Given the description of an element on the screen output the (x, y) to click on. 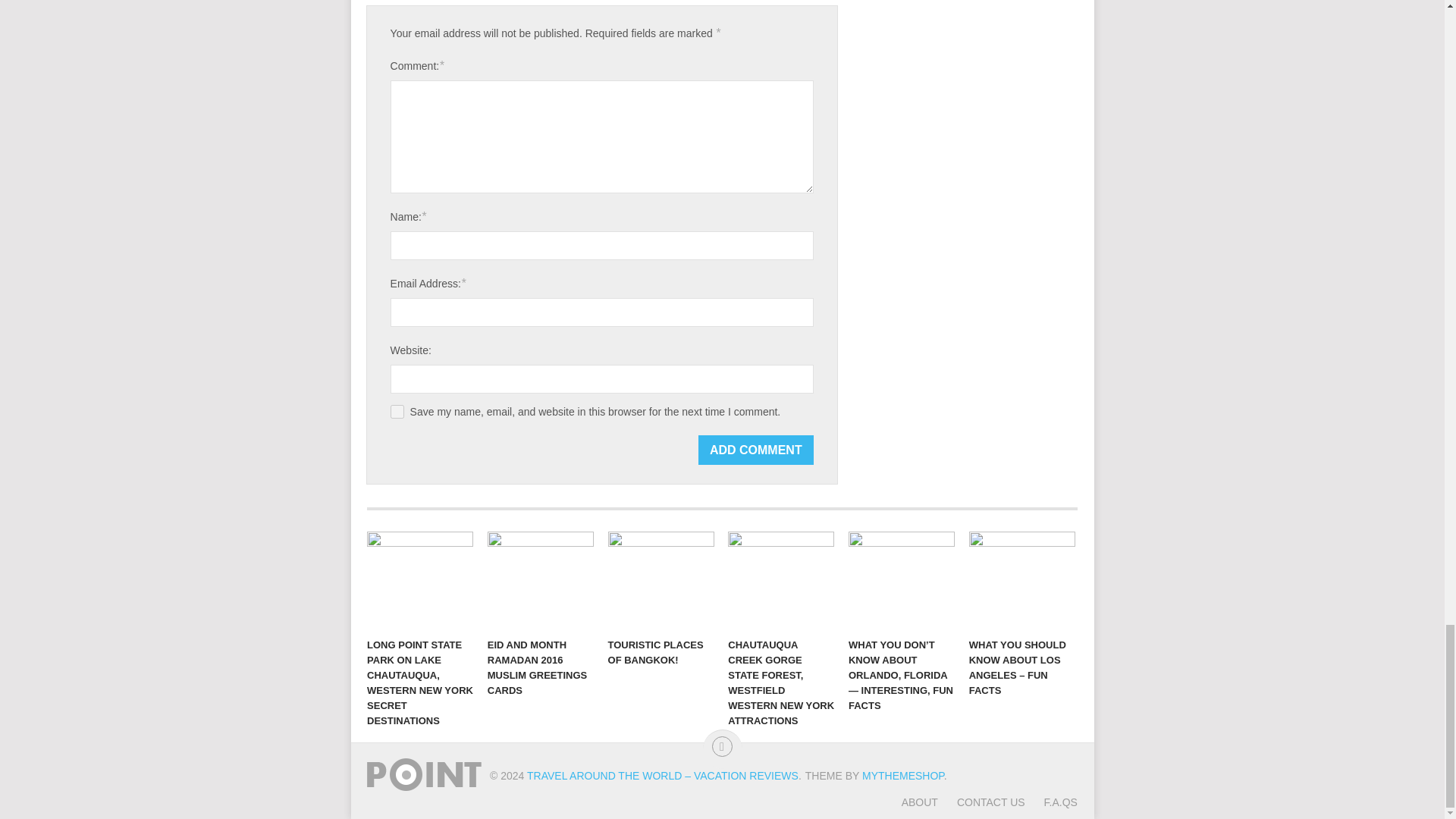
F.A.QS (1051, 802)
TOURISTIC PLACES OF BANGKOK! (661, 580)
MYTHEMESHOP (902, 775)
EID AND MONTH RAMADAN 2016 MUSLIM GREETINGS CARDS (540, 580)
CONTACT US (981, 802)
Add Comment (755, 449)
ABOUT (919, 802)
Add Comment (755, 449)
yes (397, 411)
